Given the description of an element on the screen output the (x, y) to click on. 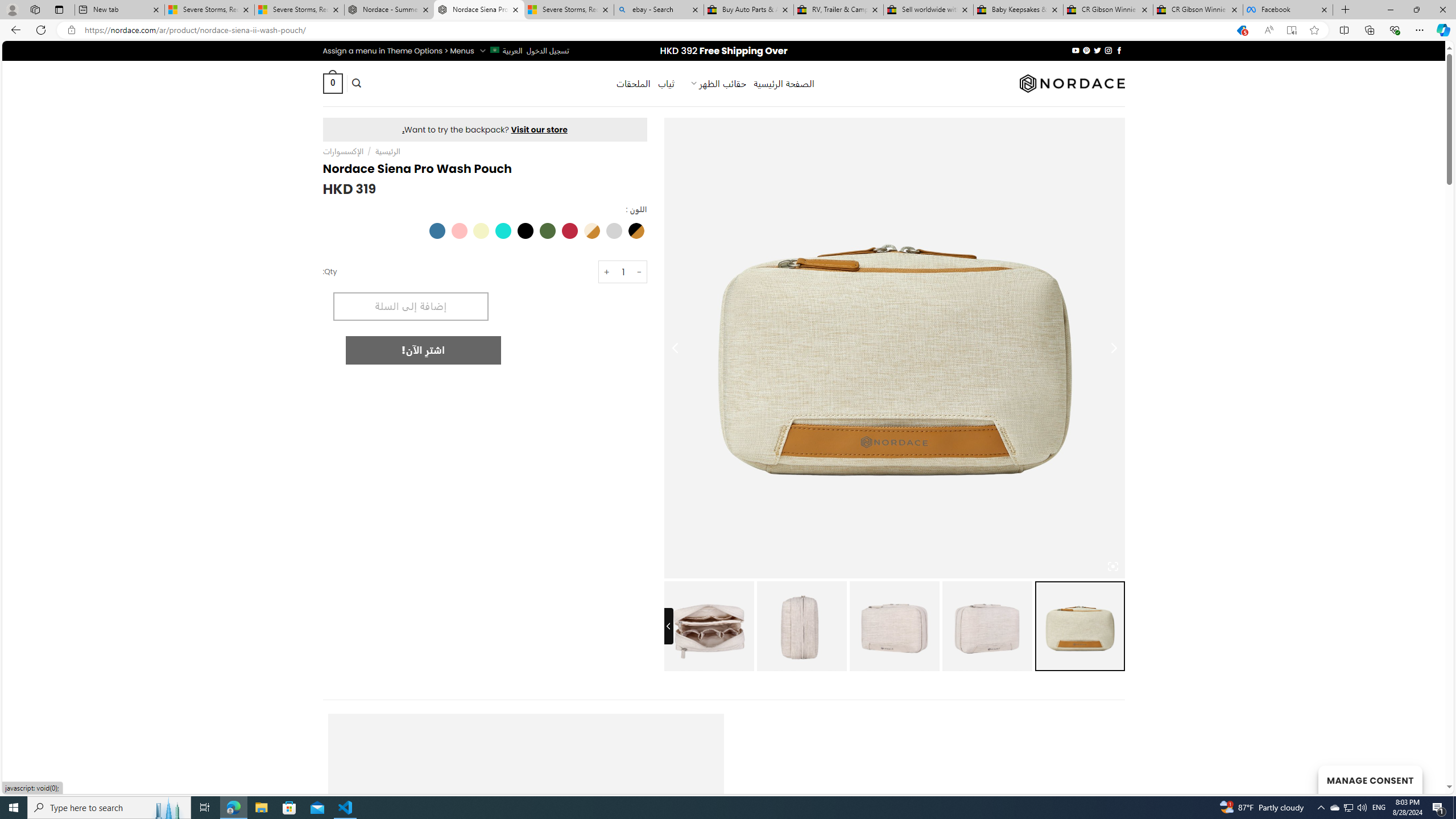
MANAGE CONSENT (1369, 779)
  0   (332, 83)
+ (606, 272)
Assign a menu in Theme Options > Menus (397, 50)
Nordace Siena Pro Wash Pouch (478, 9)
